Given the description of an element on the screen output the (x, y) to click on. 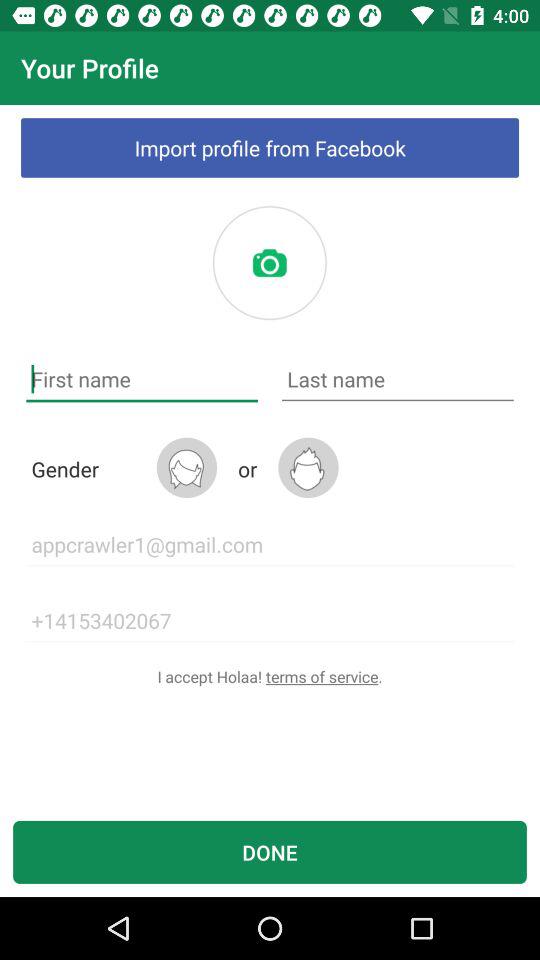
open the done (269, 851)
